Given the description of an element on the screen output the (x, y) to click on. 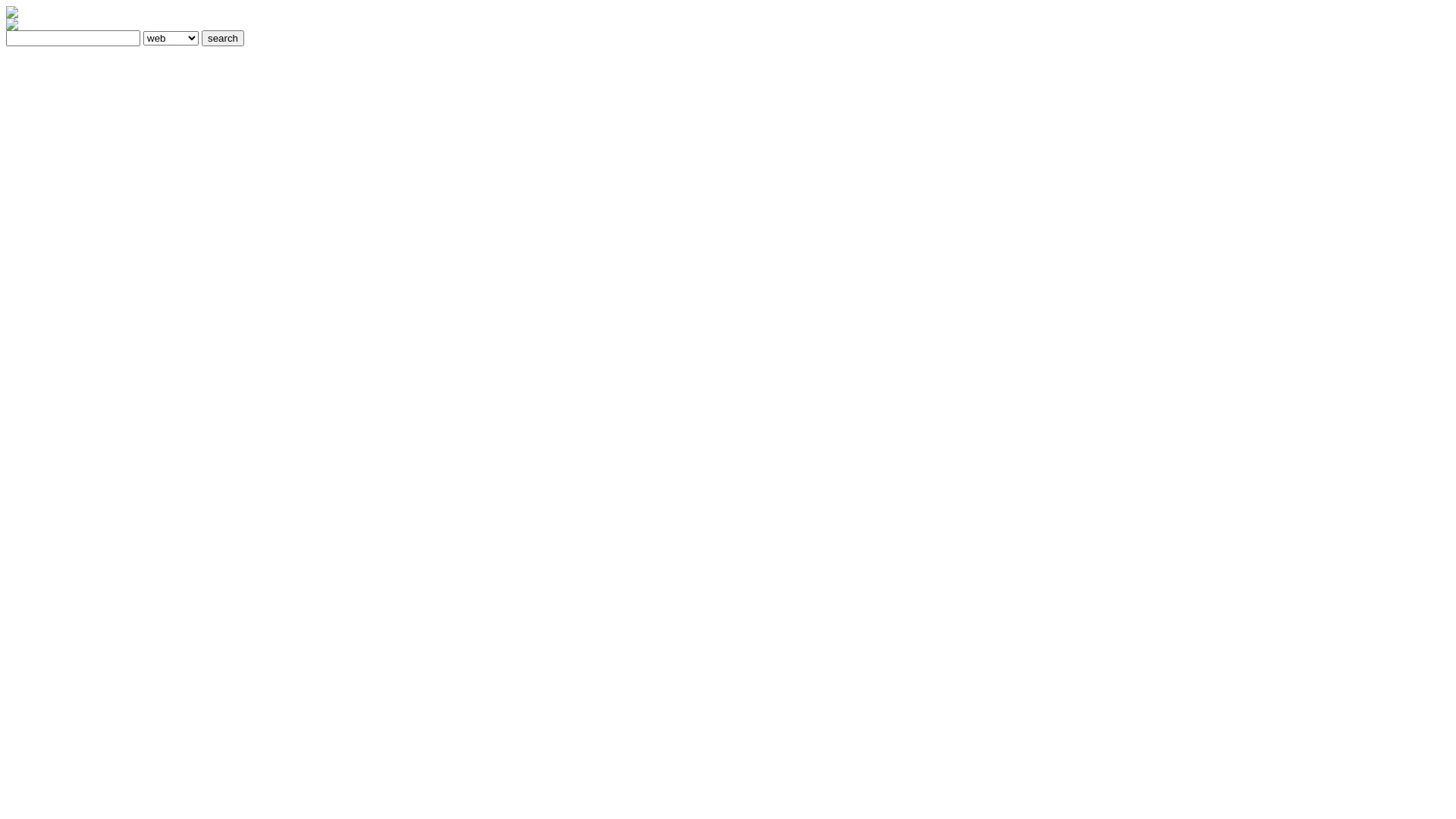
search Element type: text (222, 38)
